Given the description of an element on the screen output the (x, y) to click on. 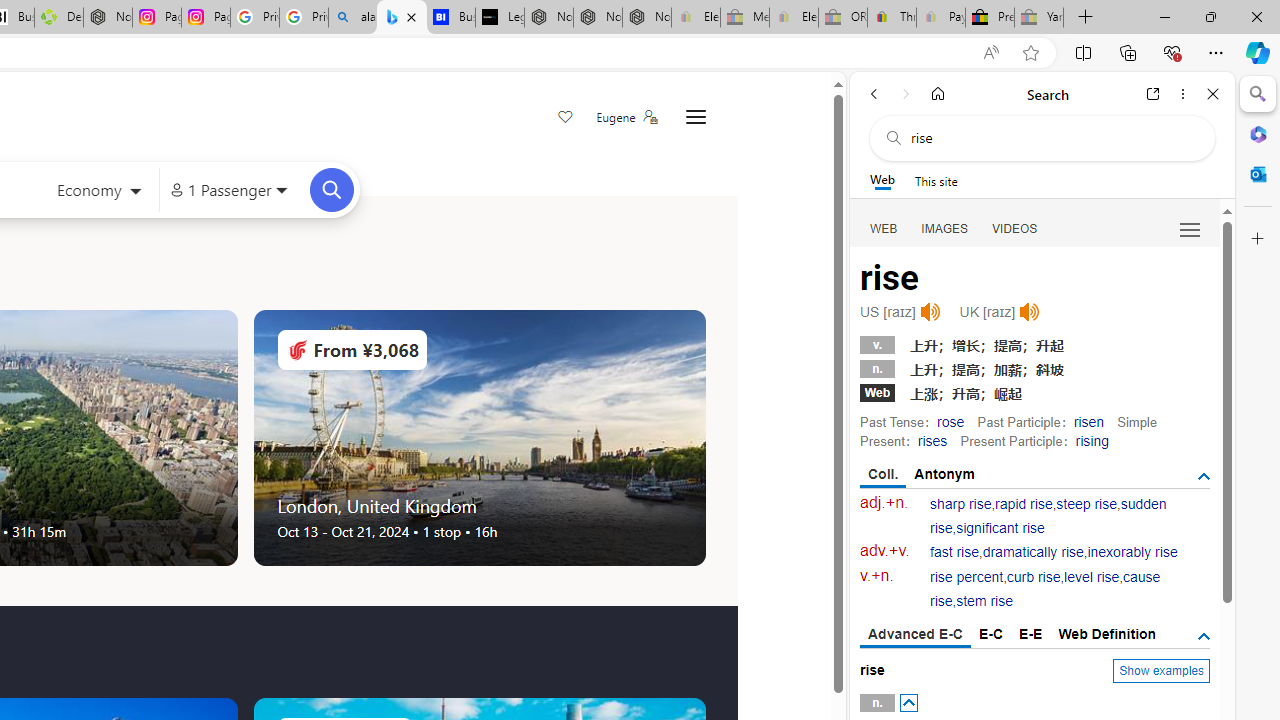
AutomationID: tgsb (1203, 476)
steep rise (1086, 503)
Save (565, 118)
WEB (884, 228)
Save (565, 118)
sharp rise (961, 503)
E-E (1030, 633)
AutomationID: tgdef (1203, 636)
